Given the description of an element on the screen output the (x, y) to click on. 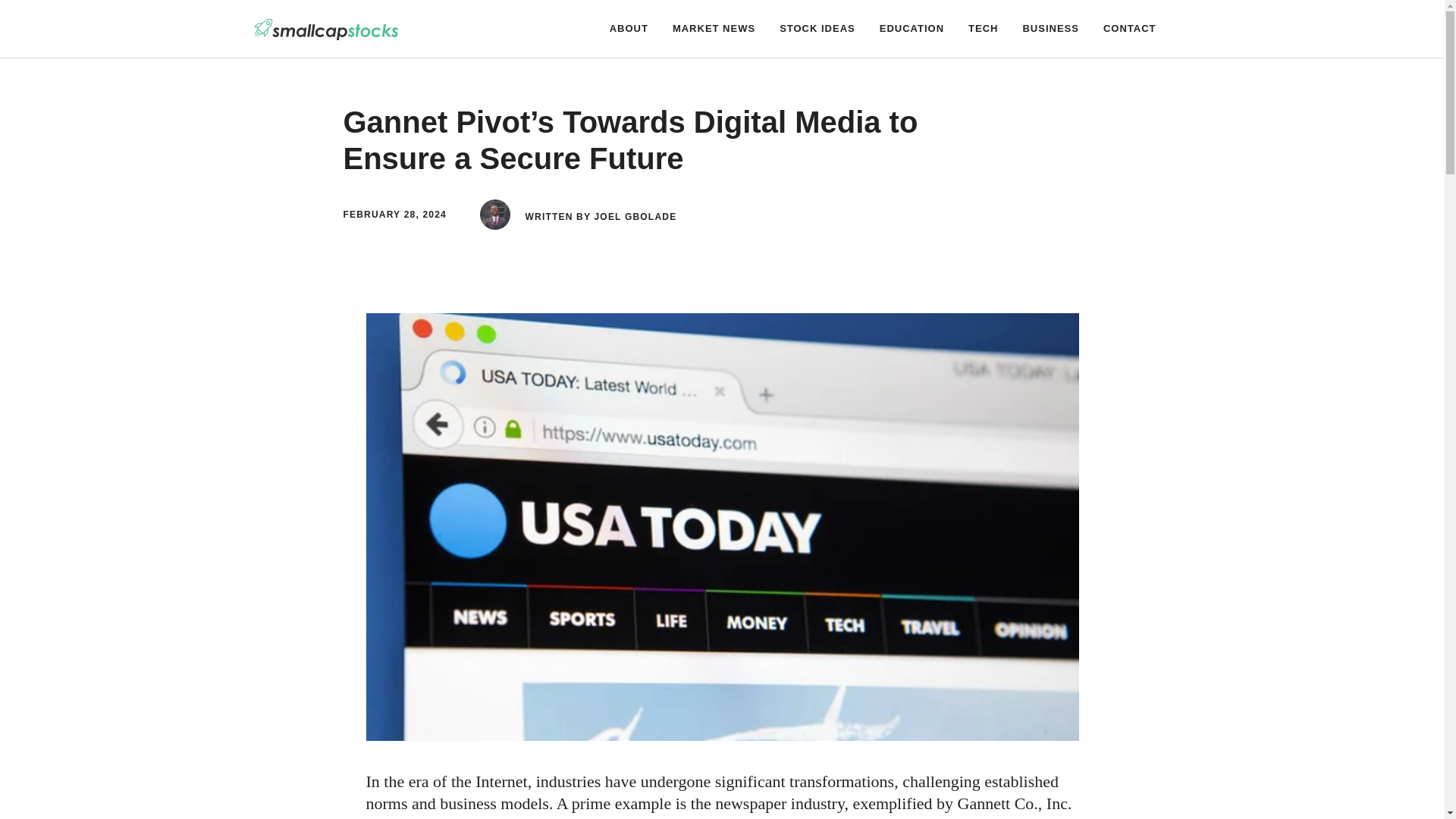
ABOUT (628, 28)
EDUCATION (911, 28)
BUSINESS (1050, 28)
STOCK IDEAS (817, 28)
MARKET NEWS (714, 28)
CONTACT (1129, 28)
TECH (983, 28)
